Given the description of an element on the screen output the (x, y) to click on. 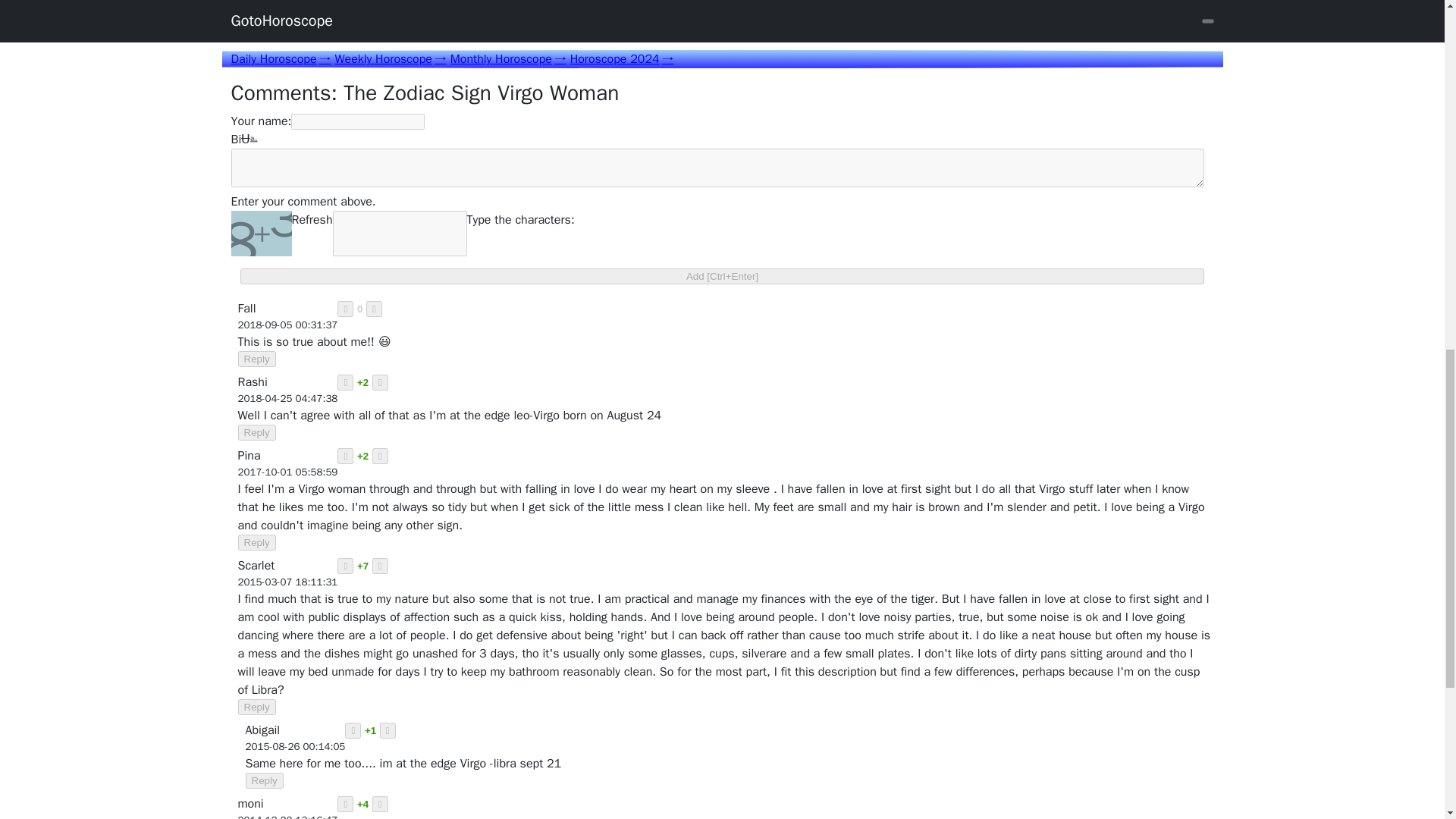
Weekly Horoscope (389, 58)
Horoscope 2024 (622, 58)
Horoscope 2024 (622, 58)
Reply (257, 706)
Daily Horoscope for Today and Tomorrow (280, 58)
Reply (257, 358)
Monthly Horoscope (507, 58)
Weekly Horoscope (389, 58)
Monthly Horoscope (507, 58)
Refresh (311, 233)
